Given the description of an element on the screen output the (x, y) to click on. 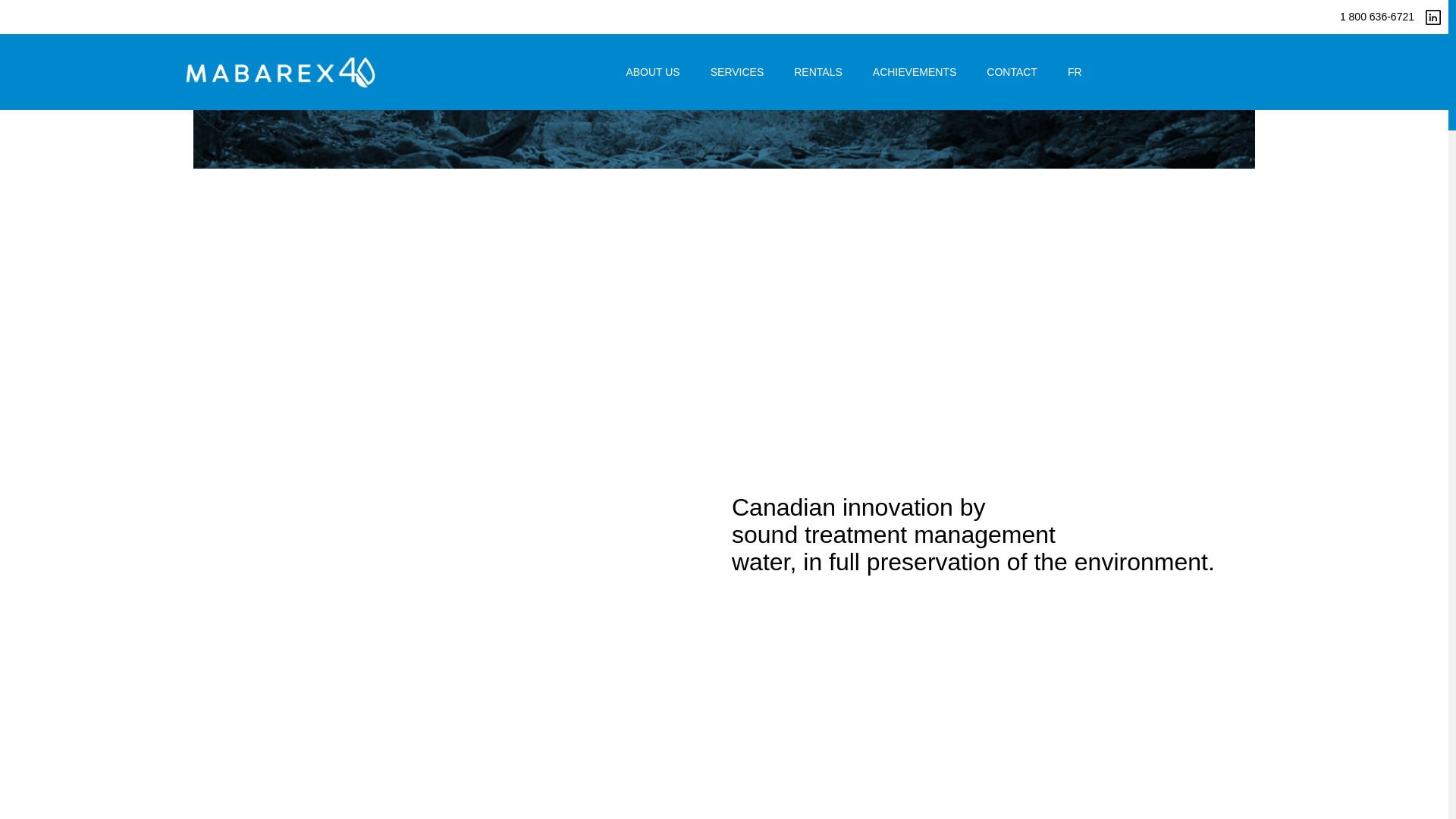
SERVICES (736, 71)
RENTALS (817, 71)
ACHIEVEMENTS (914, 71)
linkedin (1433, 17)
ABOUT US (652, 71)
CONTACT (1011, 71)
1 800 636-6721 (1363, 17)
